Given the description of an element on the screen output the (x, y) to click on. 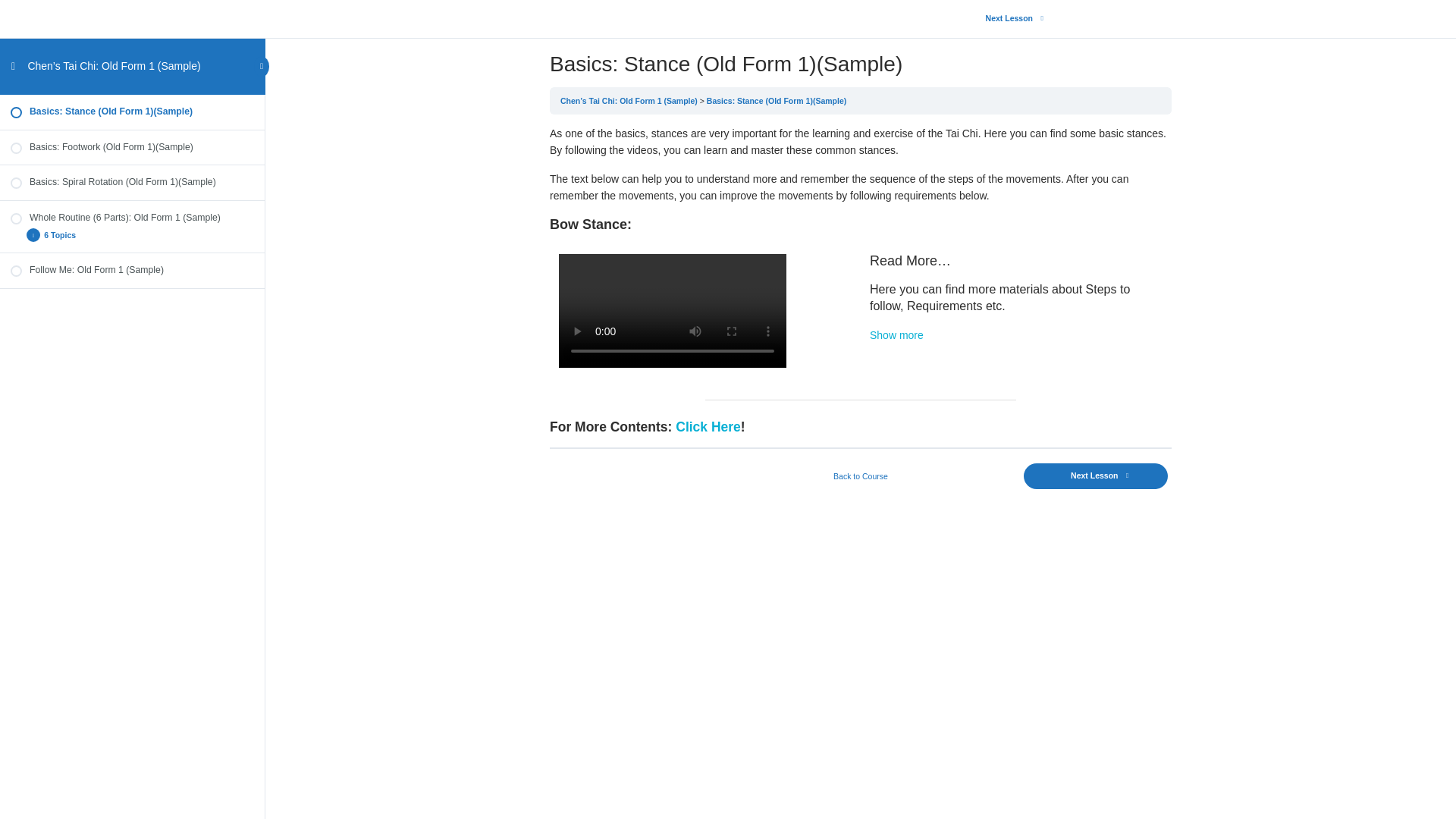
Back to Course (860, 475)
Next Lesson (1010, 18)
Click Here (708, 426)
Next Lesson (1095, 475)
Show more (896, 335)
